Given the description of an element on the screen output the (x, y) to click on. 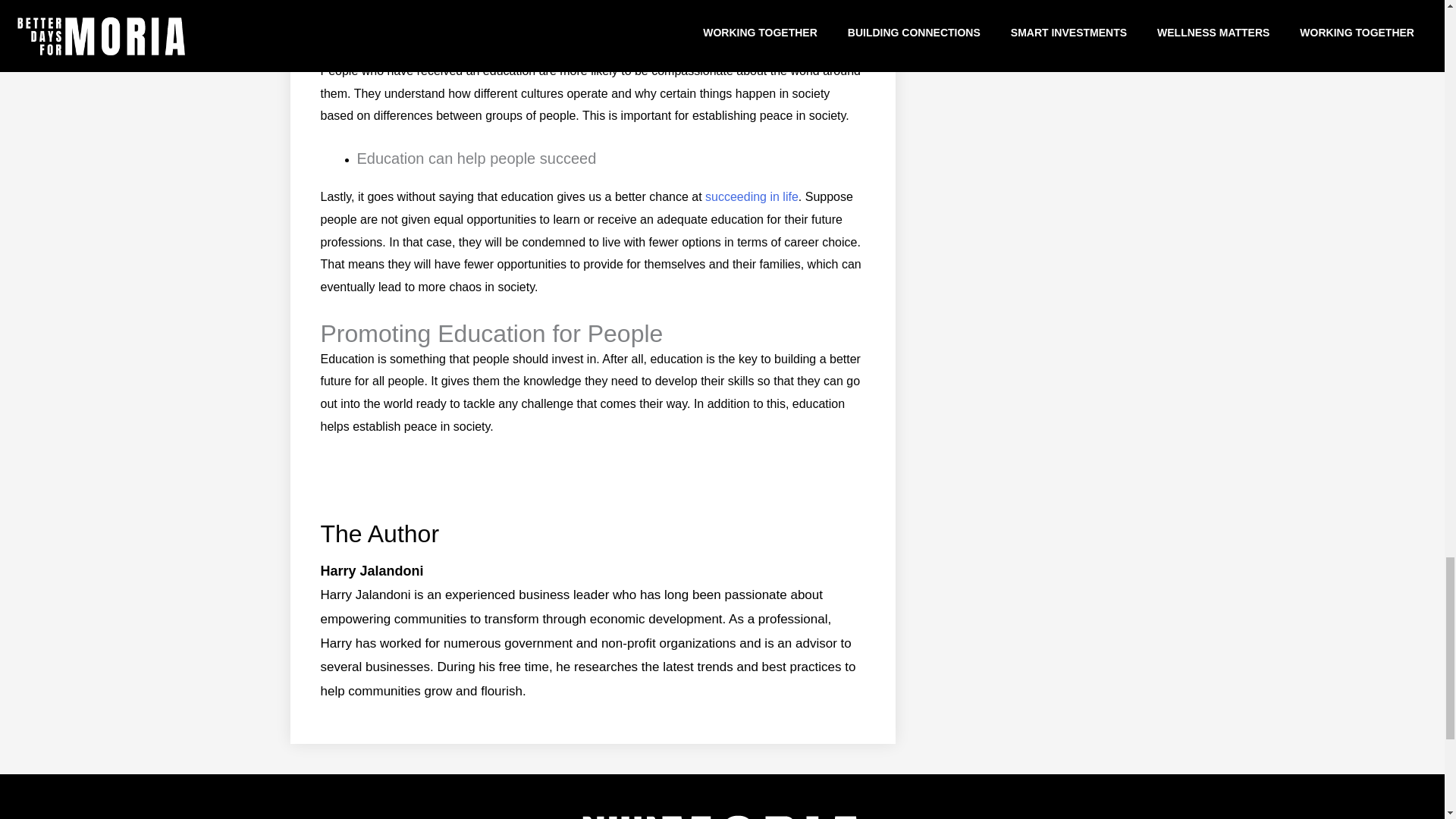
succeeding in life (750, 196)
